Given the description of an element on the screen output the (x, y) to click on. 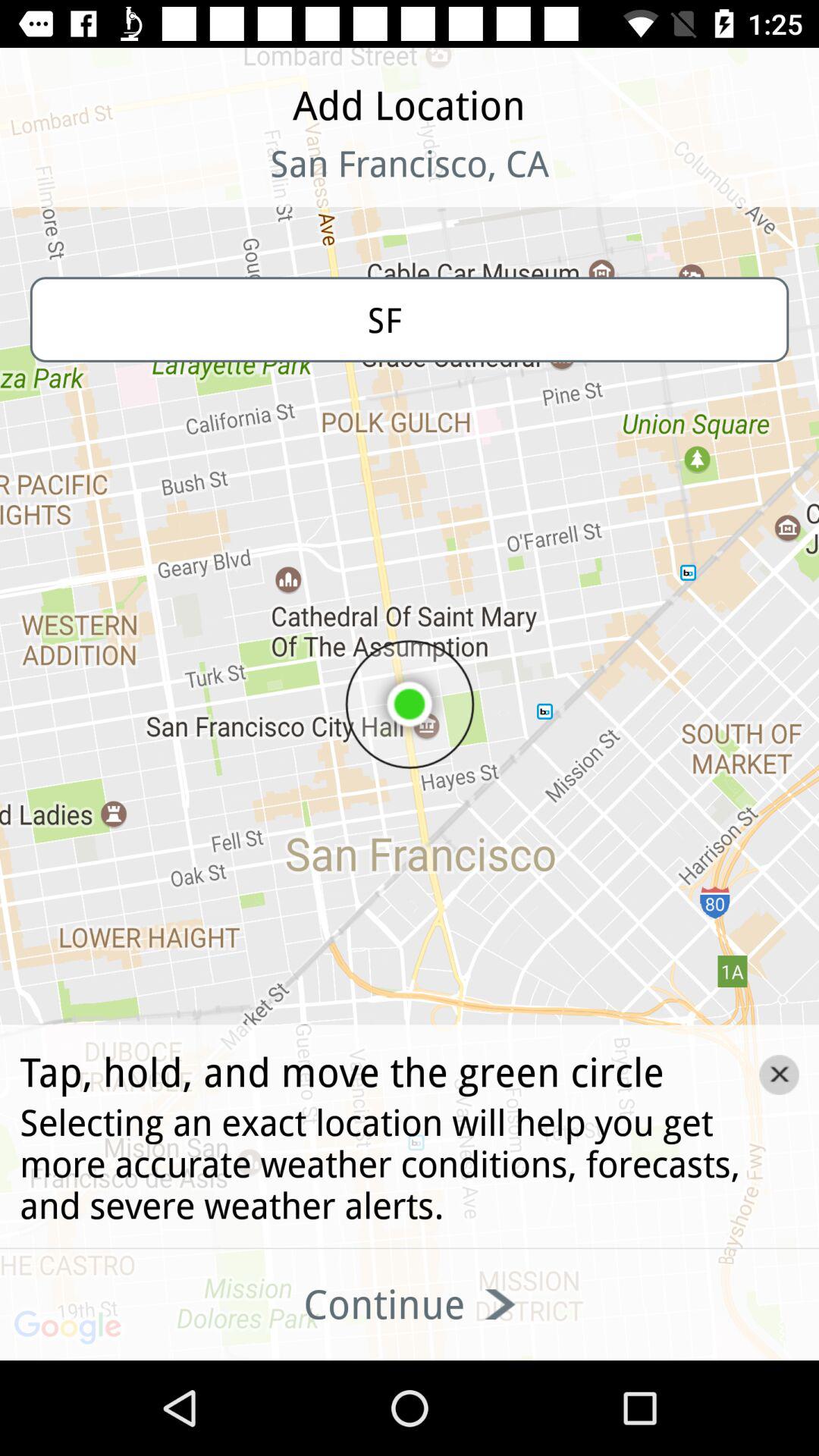
open the icon at the top left corner (99, 182)
